Given the description of an element on the screen output the (x, y) to click on. 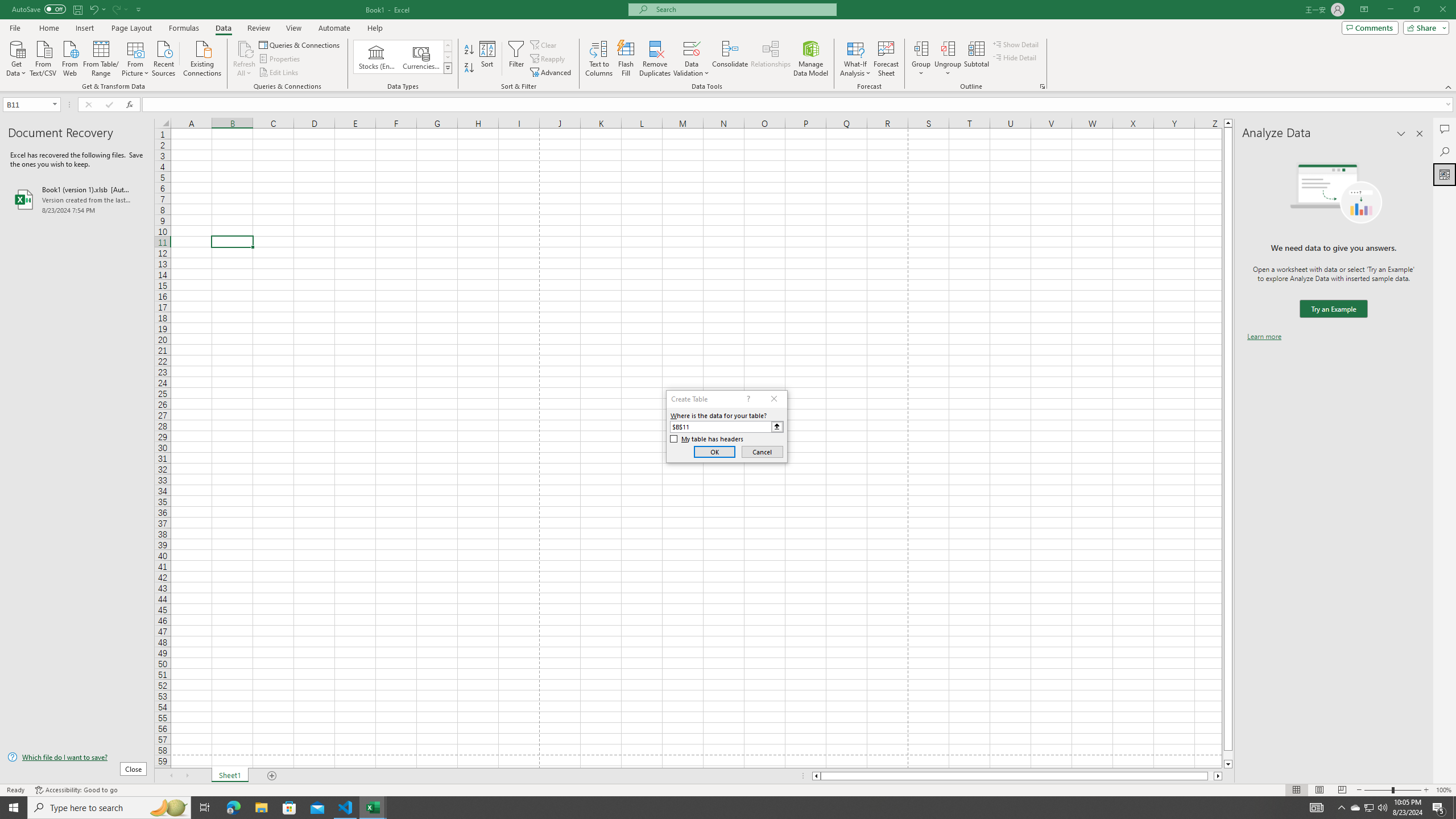
Queries & Connections (300, 44)
Remove Duplicates (654, 58)
Reapply (548, 58)
Text to Columns... (598, 58)
Data Types (448, 67)
